Given the description of an element on the screen output the (x, y) to click on. 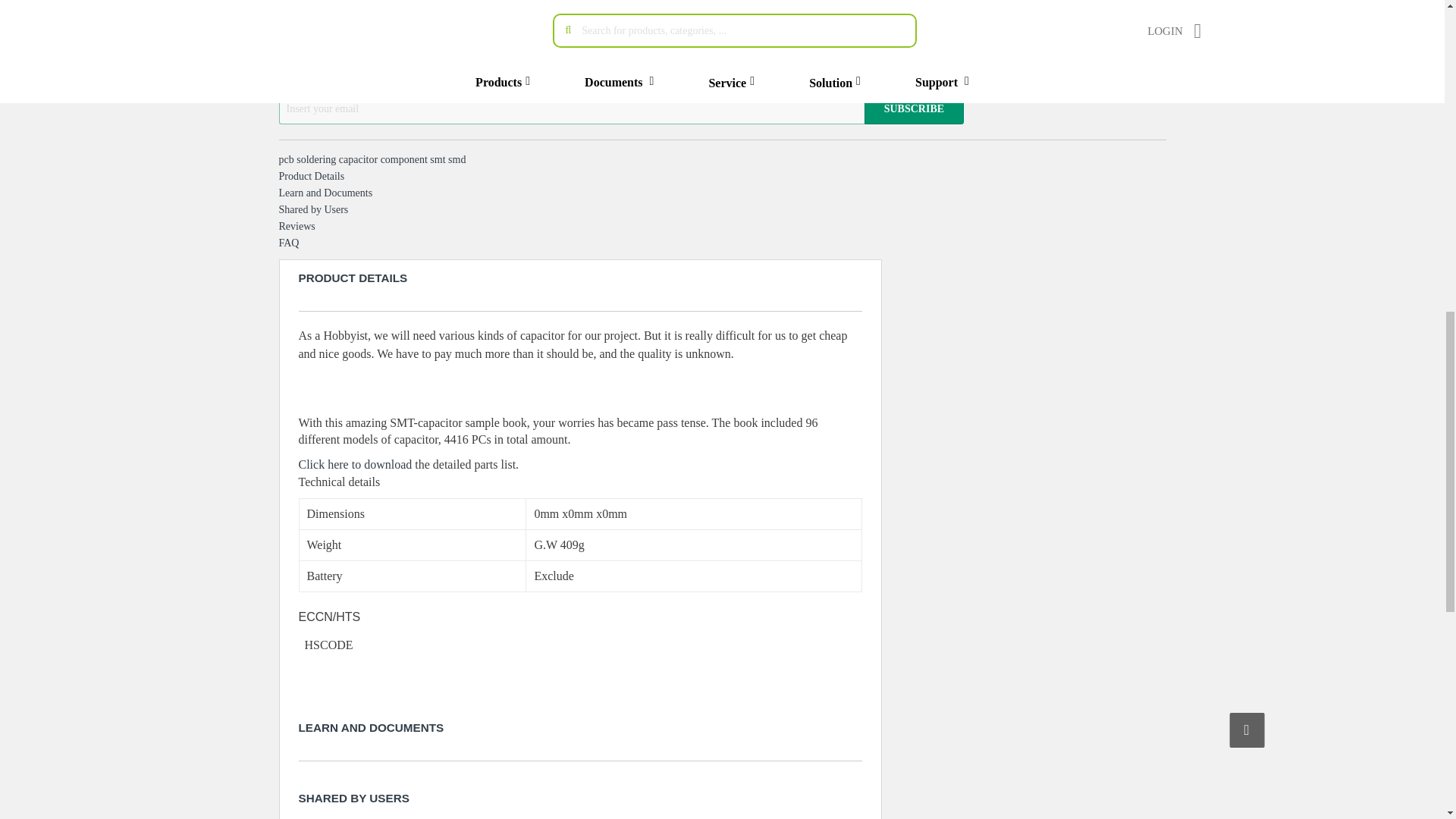
Click here to download (355, 463)
smd (456, 159)
smt (438, 159)
Learn and Documents (325, 193)
FAQ (289, 242)
Reviews (297, 225)
Add to Wishlist (721, 40)
pcb (288, 159)
SUBSCRIBE (913, 109)
Product Details (312, 175)
